Given the description of an element on the screen output the (x, y) to click on. 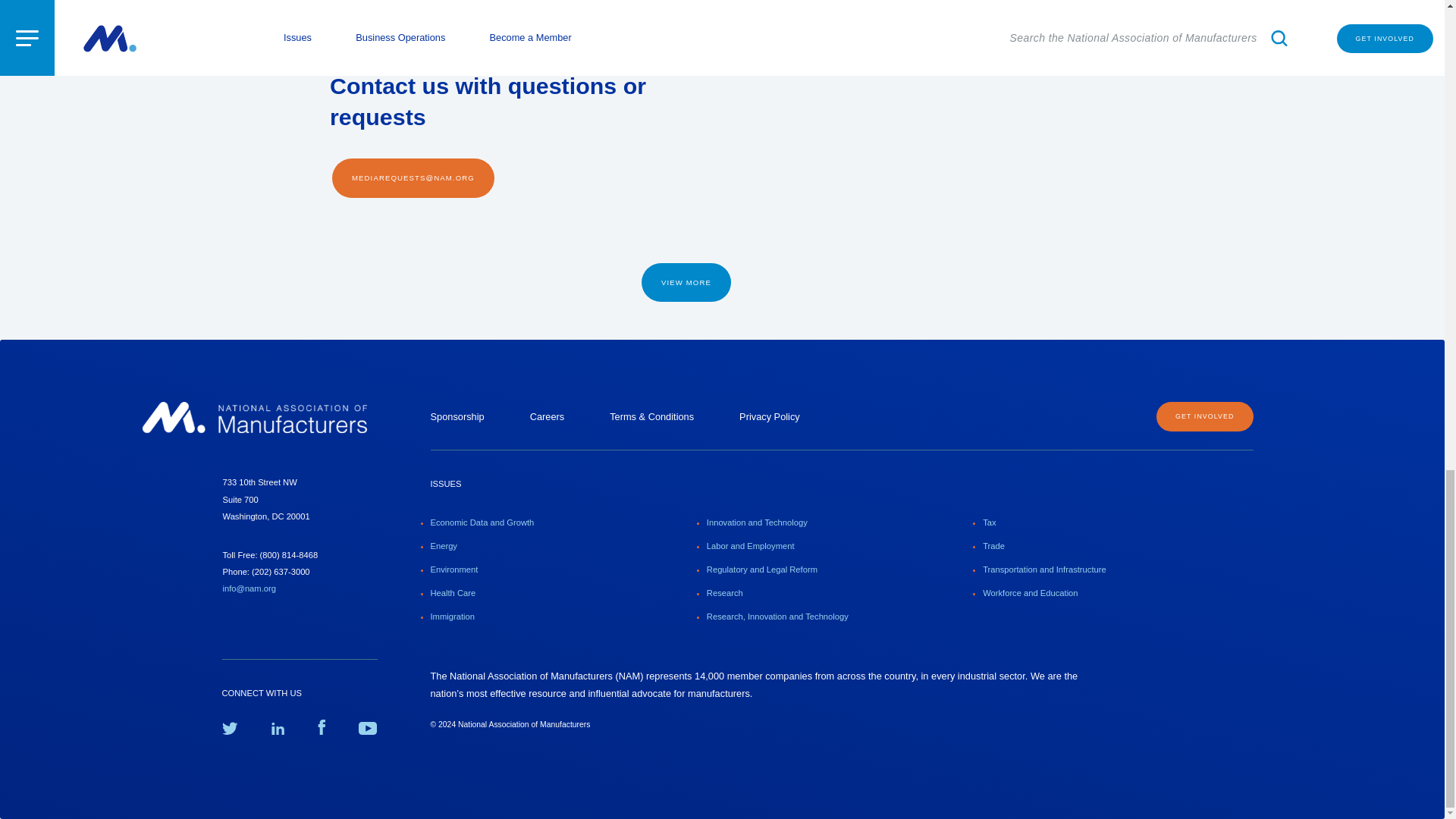
VIEW MORE (686, 282)
Sponsorship (457, 416)
Privacy Policy (769, 416)
Careers (546, 416)
